Given the description of an element on the screen output the (x, y) to click on. 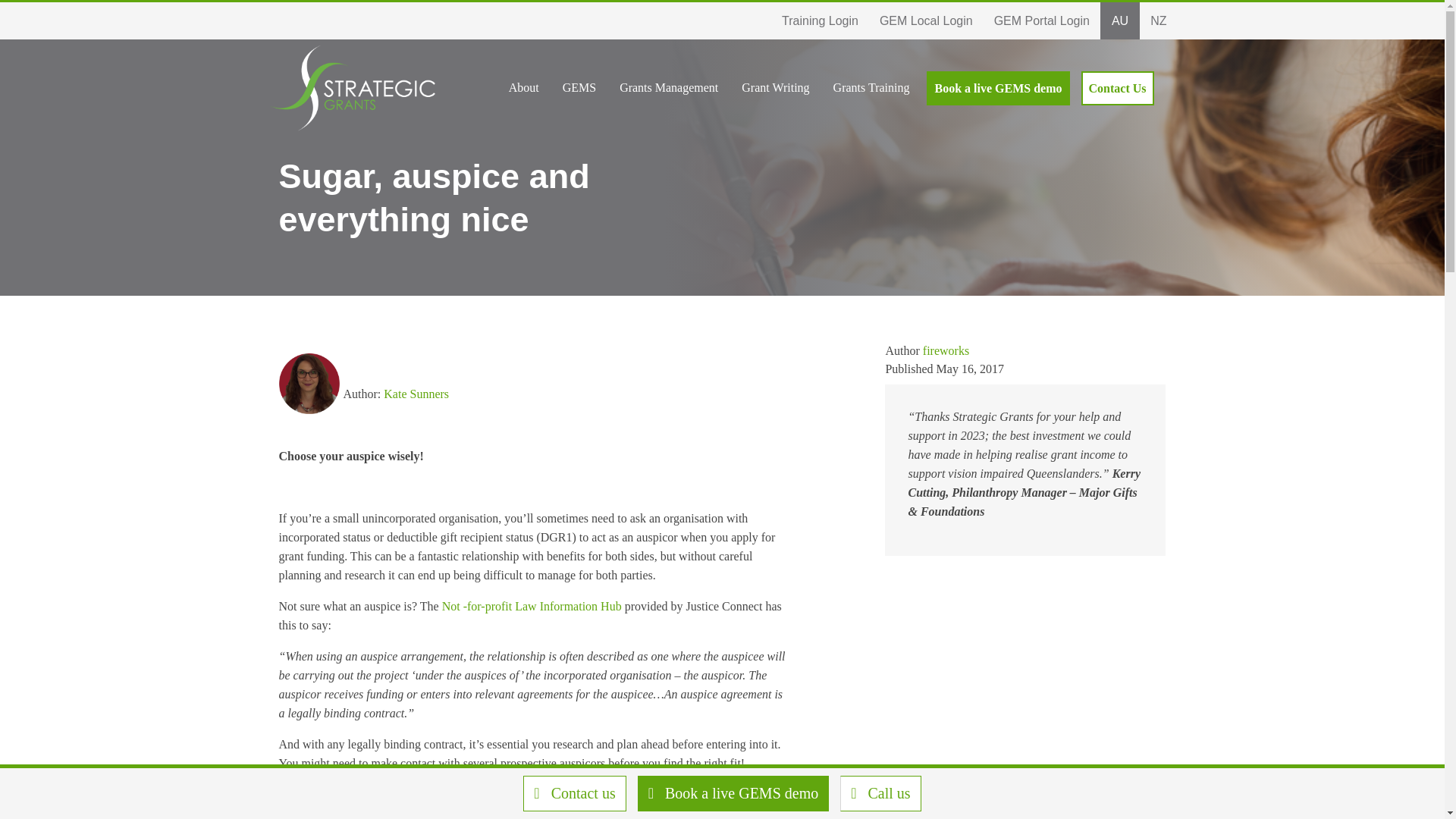
GEMS (579, 87)
Not -for-profit Law Information Hub (530, 605)
About (523, 87)
Grants Management (667, 87)
NZ (1158, 20)
About (523, 87)
GEM Portal Login (1042, 20)
AU (1120, 20)
Grant Writing (775, 87)
Contact Us (1117, 88)
Kate Sunners (416, 393)
fireworks (946, 350)
GEM Local Login (926, 20)
Grants Training (871, 87)
Grants Management (667, 87)
